Given the description of an element on the screen output the (x, y) to click on. 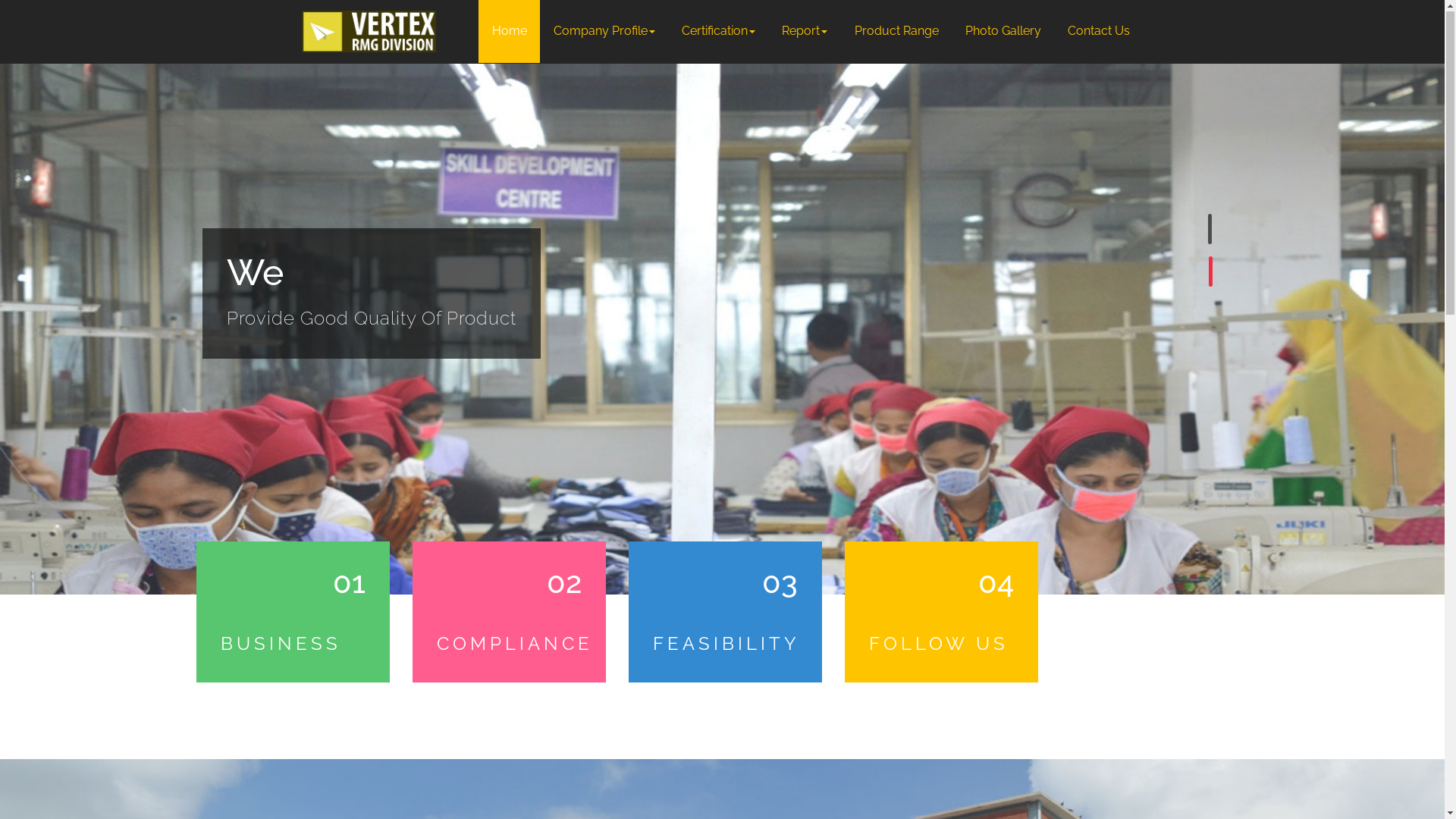
Company Profile Element type: text (603, 31)
Home Element type: text (508, 31)
Contact Us Element type: text (1098, 31)
Certification Element type: text (718, 31)
Report Element type: text (804, 31)
Product Range Element type: text (895, 31)
Photo Gallery Element type: text (1002, 31)
